Given the description of an element on the screen output the (x, y) to click on. 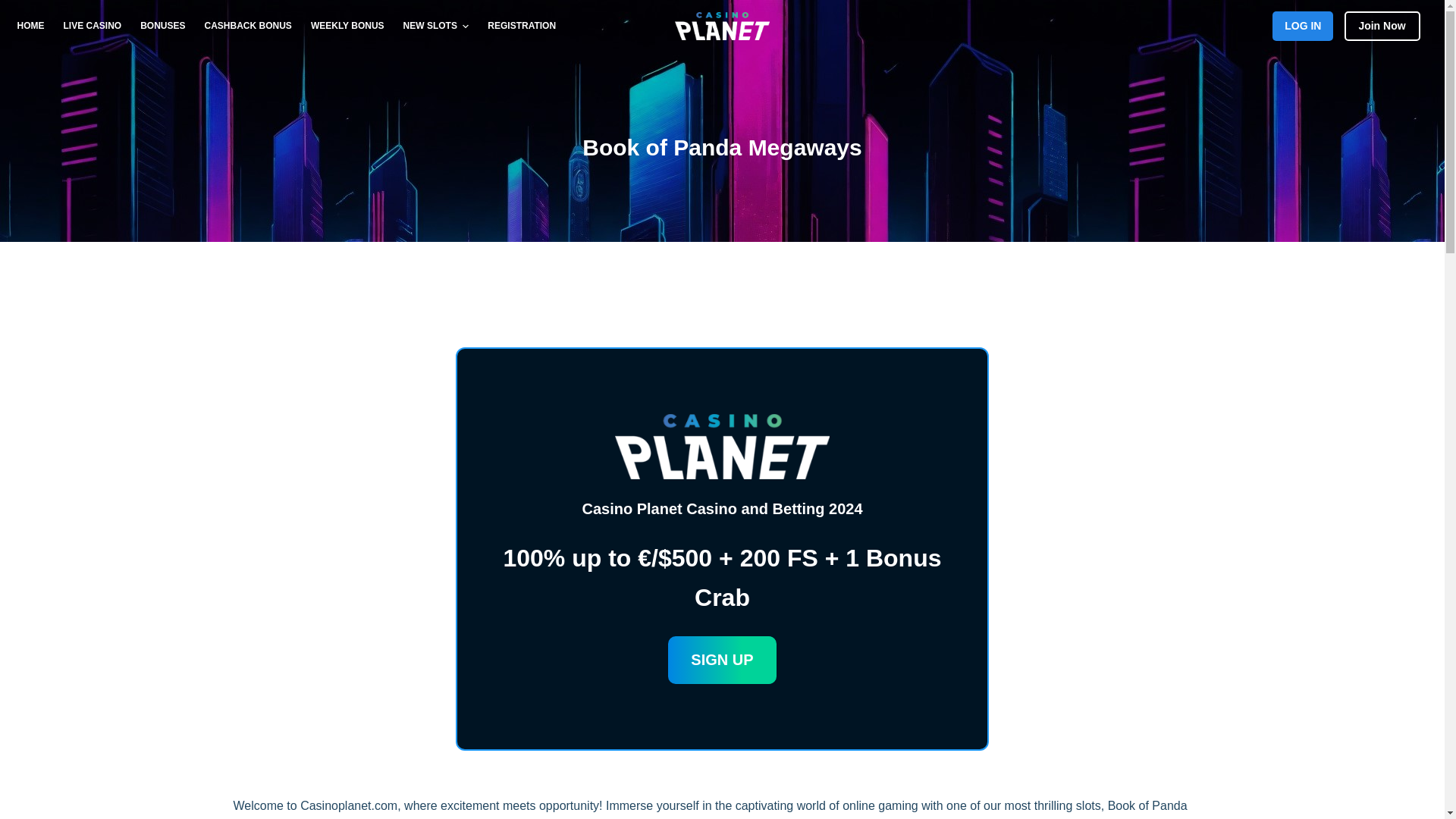
LOG IN (1302, 25)
NEW SLOTS (436, 26)
Join Now (1384, 24)
Join Now (1381, 25)
WEEKLY BONUS (347, 26)
REGISTRATION (517, 26)
SIGN UP (722, 659)
Skip to content (15, 7)
BONUSES (163, 26)
LOG IN (1306, 24)
CASHBACK BONUS (248, 26)
LIVE CASINO (92, 26)
Book of Panda Megaways (722, 147)
